Given the description of an element on the screen output the (x, y) to click on. 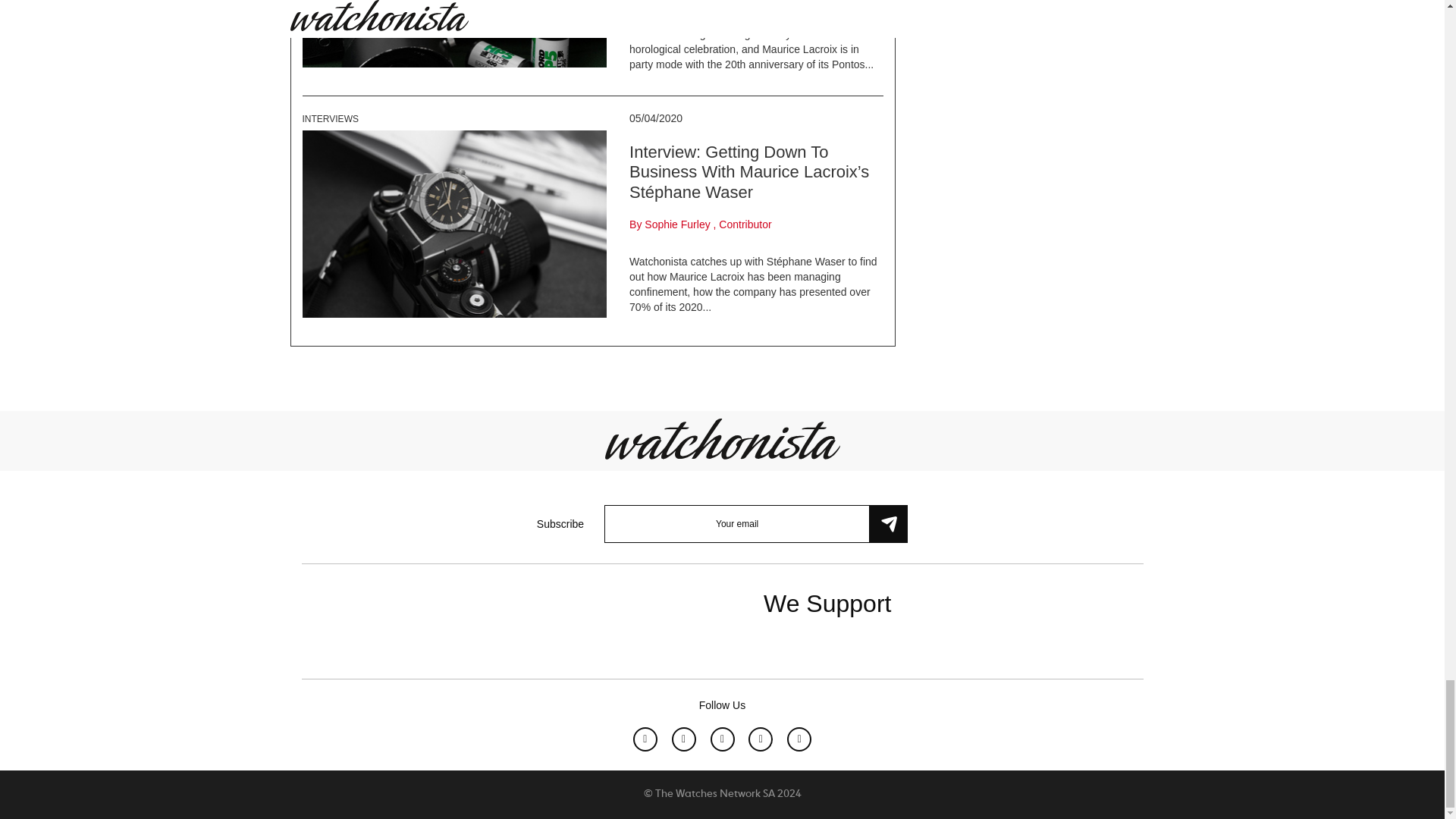
Subscribe (888, 523)
INTERVIEWS (329, 118)
